Given the description of an element on the screen output the (x, y) to click on. 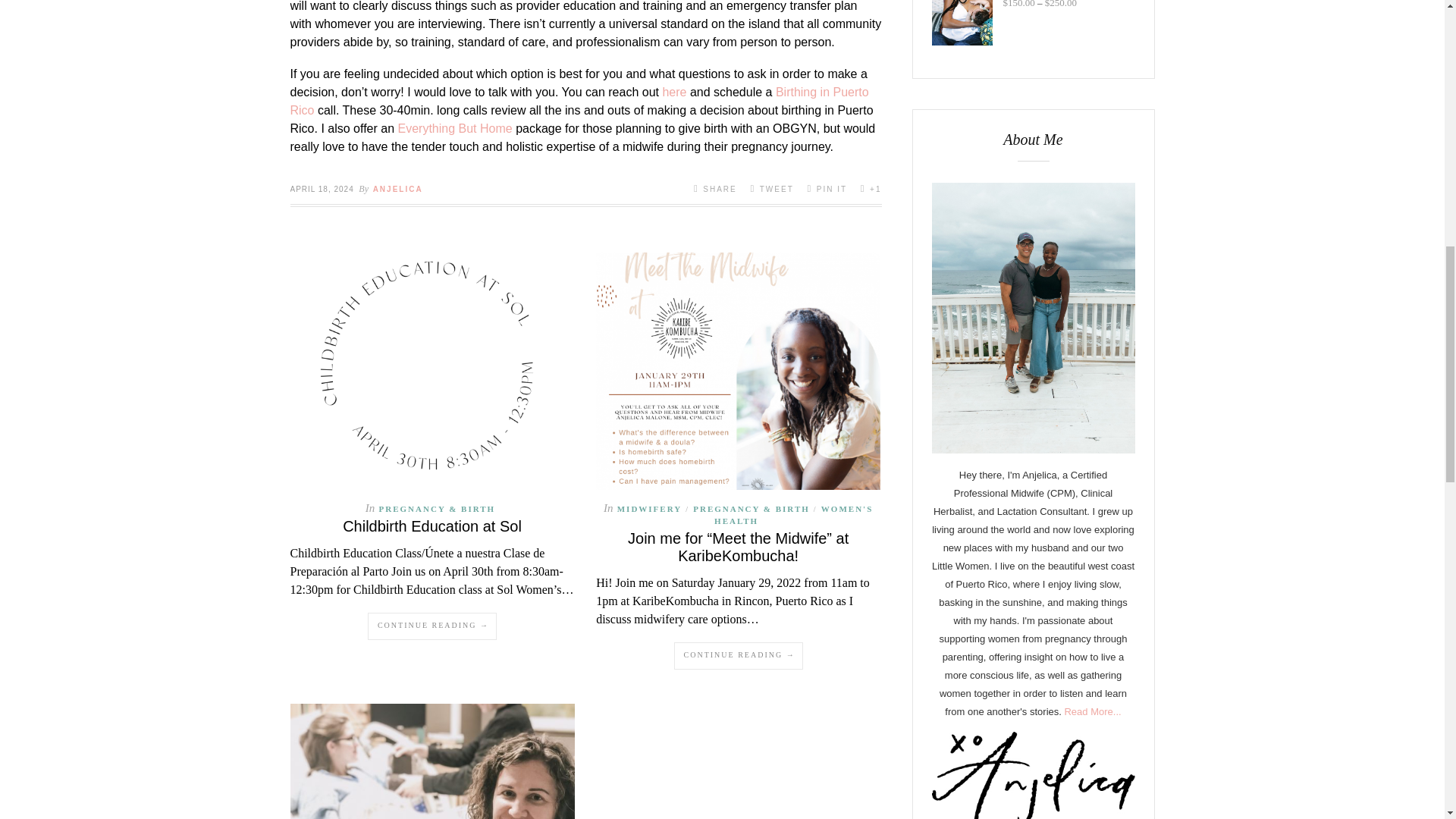
Posts by Anjelica (397, 189)
TWEET (771, 188)
ANJELICA (397, 189)
SHARE (715, 188)
here (673, 91)
Birthing in Puerto Rico (578, 101)
Everything But Home (454, 128)
